Given the description of an element on the screen output the (x, y) to click on. 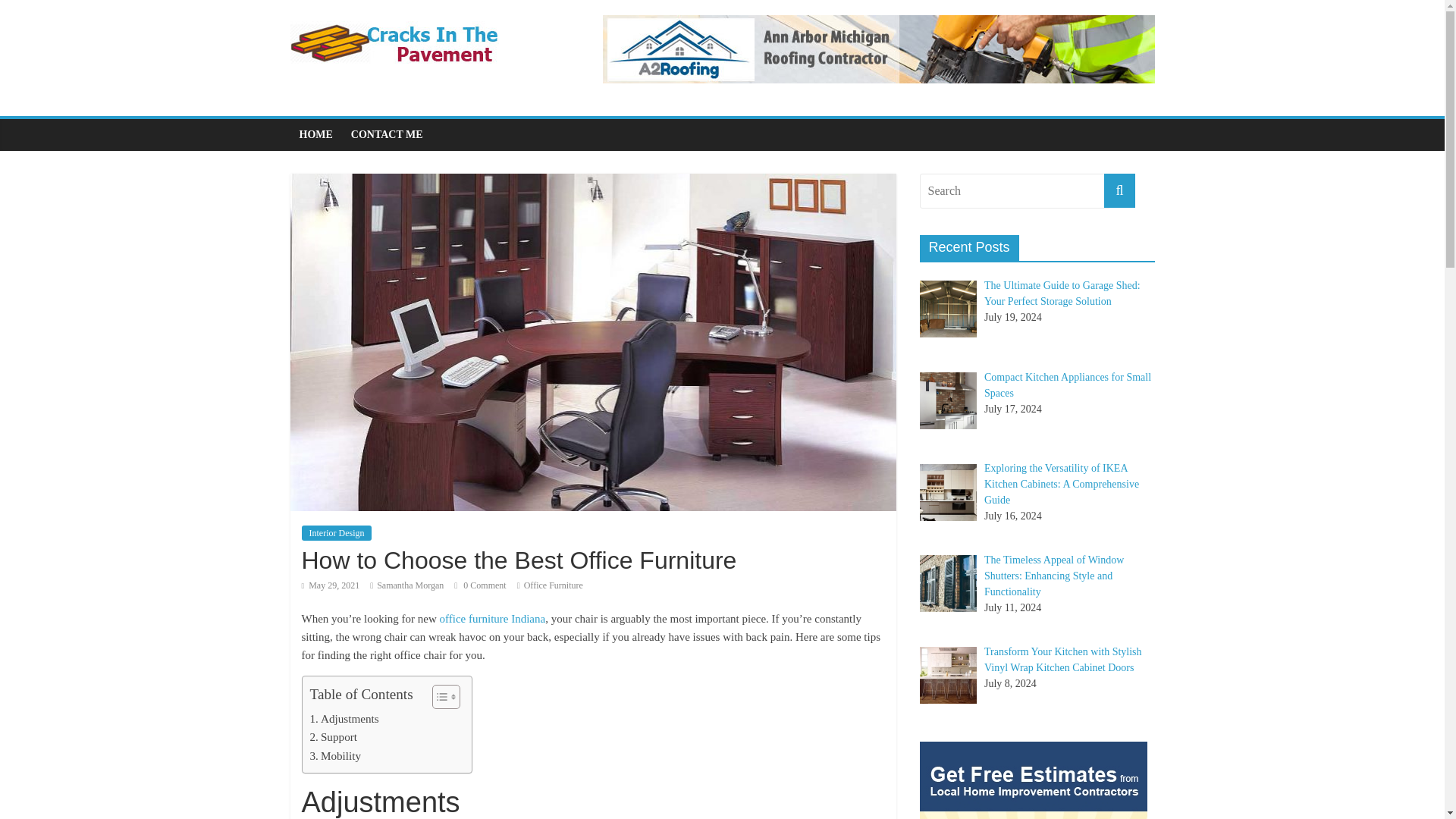
Mobility (334, 755)
Cracks In The Pavement (393, 24)
0 Comment (479, 584)
office furniture Indiana (492, 618)
Samantha Morgan (410, 584)
Office Furniture (553, 584)
Compact Kitchen Appliances for Small Spaces (1067, 384)
Support (332, 737)
